Given the description of an element on the screen output the (x, y) to click on. 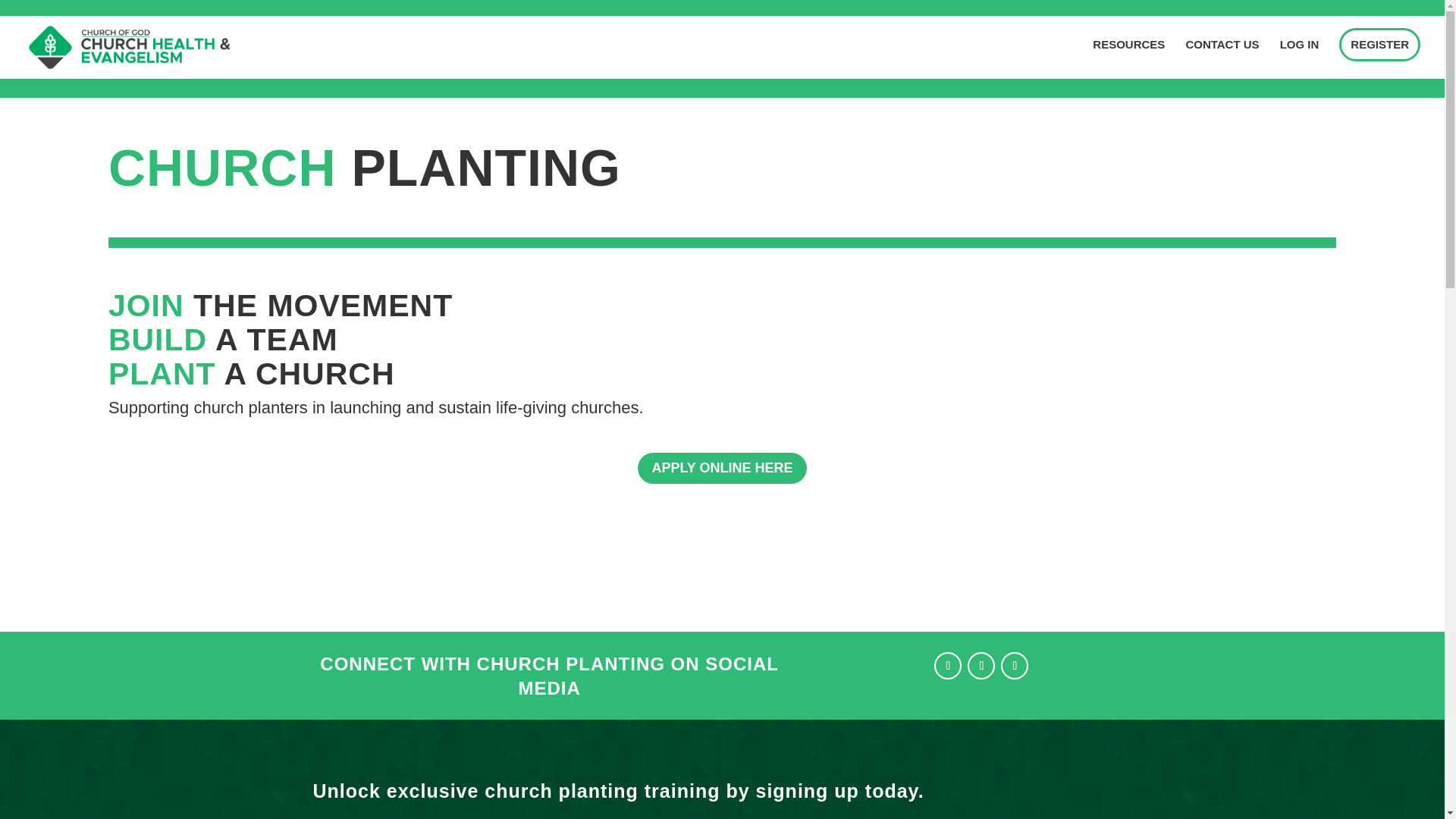
LOG IN (1299, 58)
CONTACT US (1222, 58)
Follow on Facebook (947, 665)
RESOURCES (1128, 58)
REGISTER (1380, 44)
Follow on Twitter (1014, 665)
APPLY ONLINE HERE (722, 468)
Follow on Instagram (981, 665)
